Given the description of an element on the screen output the (x, y) to click on. 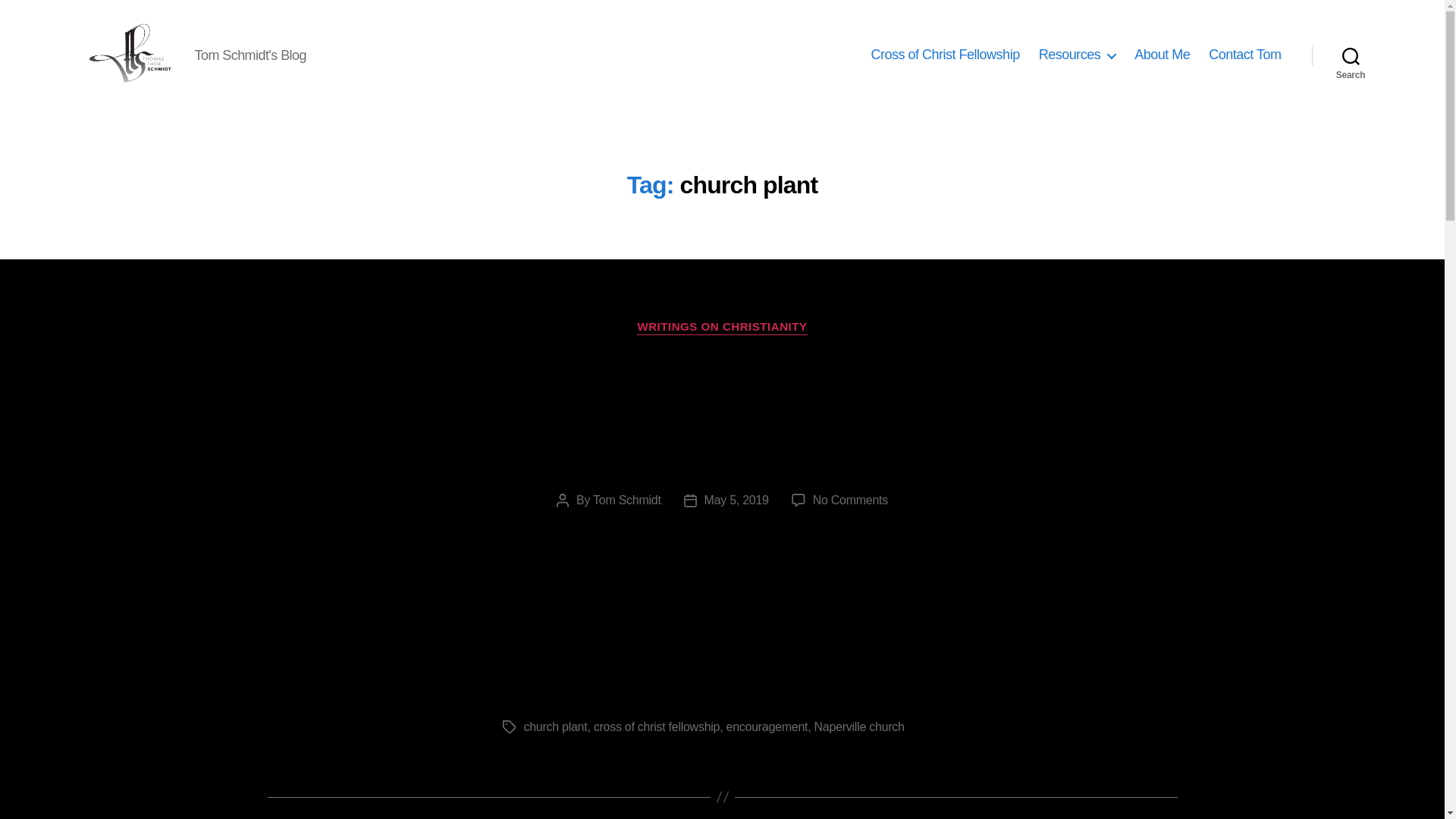
Resources (1077, 54)
WRITINGS ON CHRISTIANITY (721, 327)
Search (1350, 55)
Encouragement to Those in a Small Church Plant (721, 412)
About Me (1161, 54)
Naperville church (858, 726)
Tom Schmidt (626, 499)
May 5, 2019 (736, 499)
church plant (554, 726)
